Given the description of an element on the screen output the (x, y) to click on. 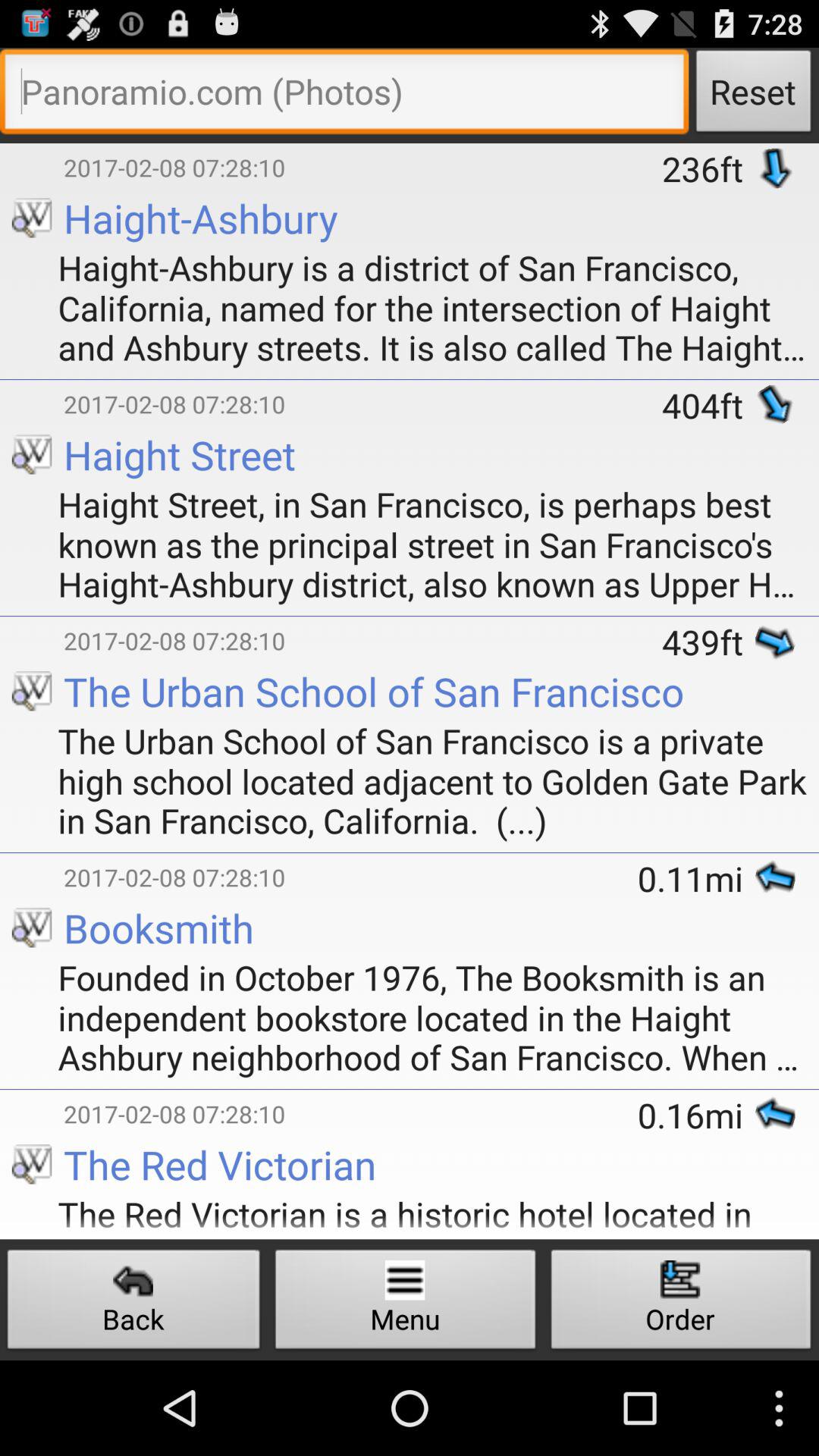
select icon next to founded in october app (13, 956)
